Given the description of an element on the screen output the (x, y) to click on. 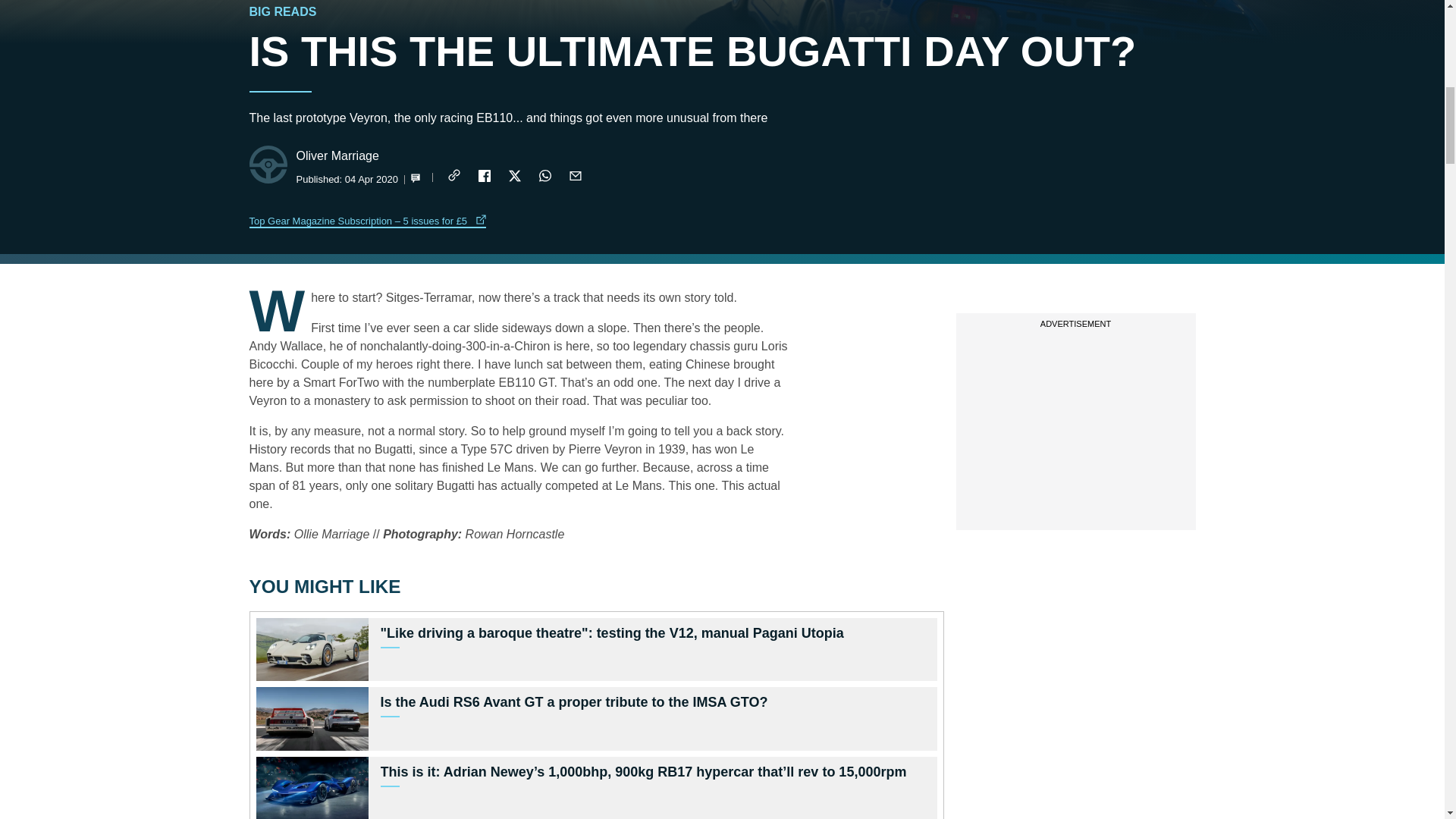
3rd party ad content (1074, 429)
BIG READS (281, 11)
Oliver Marriage (336, 155)
